Given the description of an element on the screen output the (x, y) to click on. 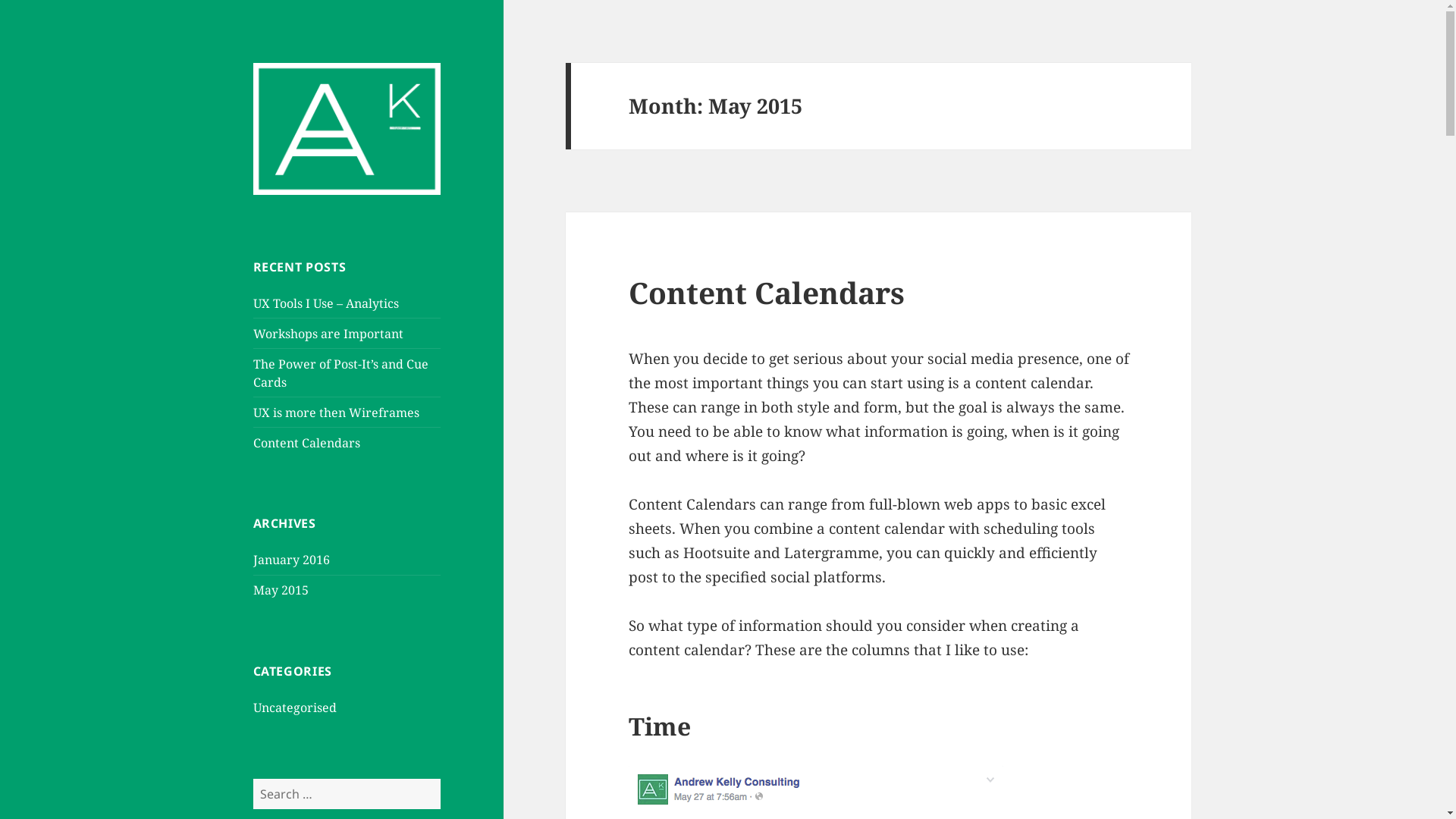
January 2016 Element type: text (291, 559)
Search Element type: text (439, 778)
Content Calendars Element type: text (766, 292)
May 2015 Element type: text (280, 589)
Uncategorised Element type: text (294, 707)
Workshops are Important Element type: text (328, 333)
Andrew Kelly Consulting Element type: text (319, 86)
UX is more then Wireframes Element type: text (336, 412)
Content Calendars Element type: text (306, 442)
